Given the description of an element on the screen output the (x, y) to click on. 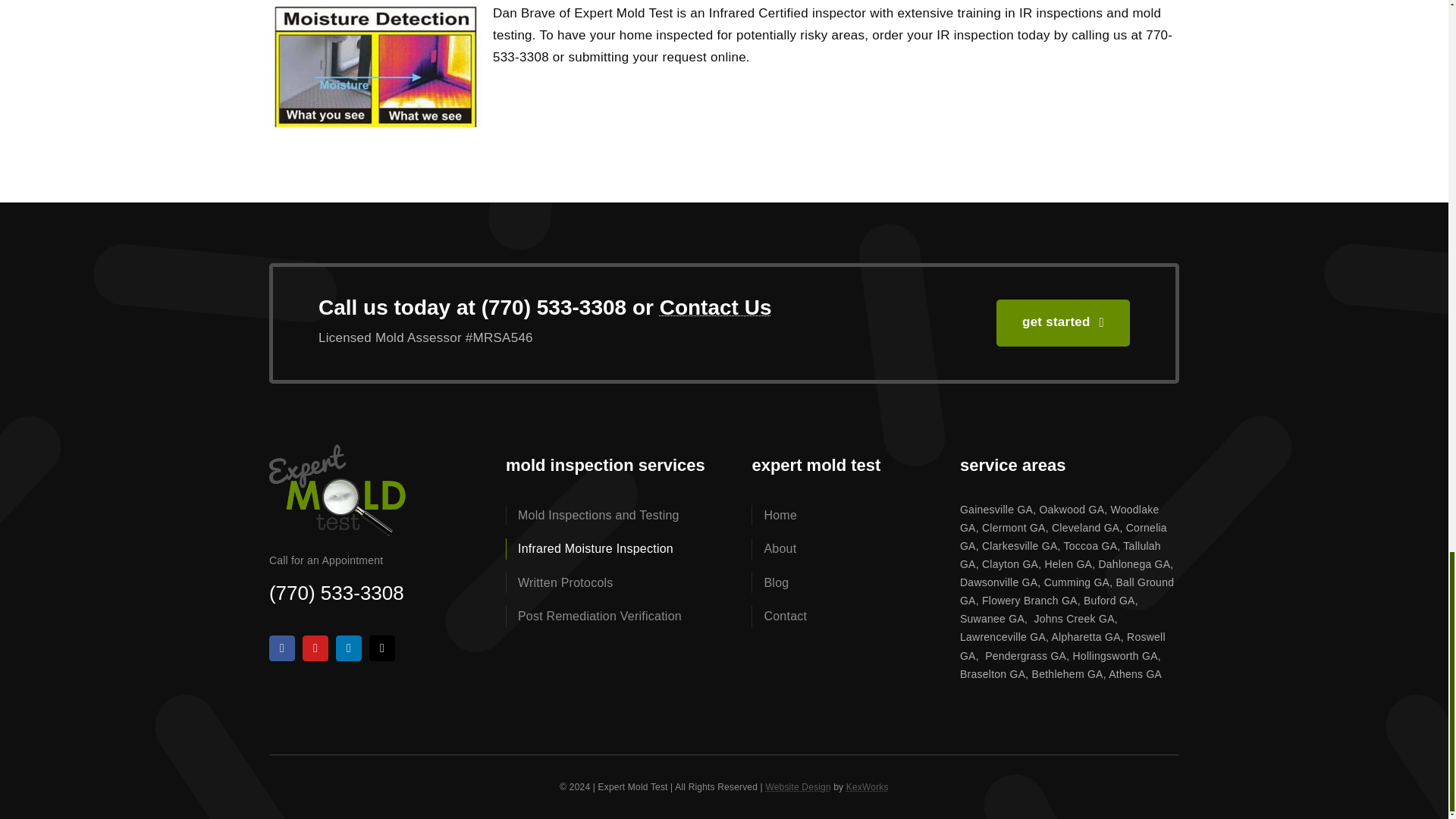
get started (1062, 322)
Contact Us (715, 307)
